Given the description of an element on the screen output the (x, y) to click on. 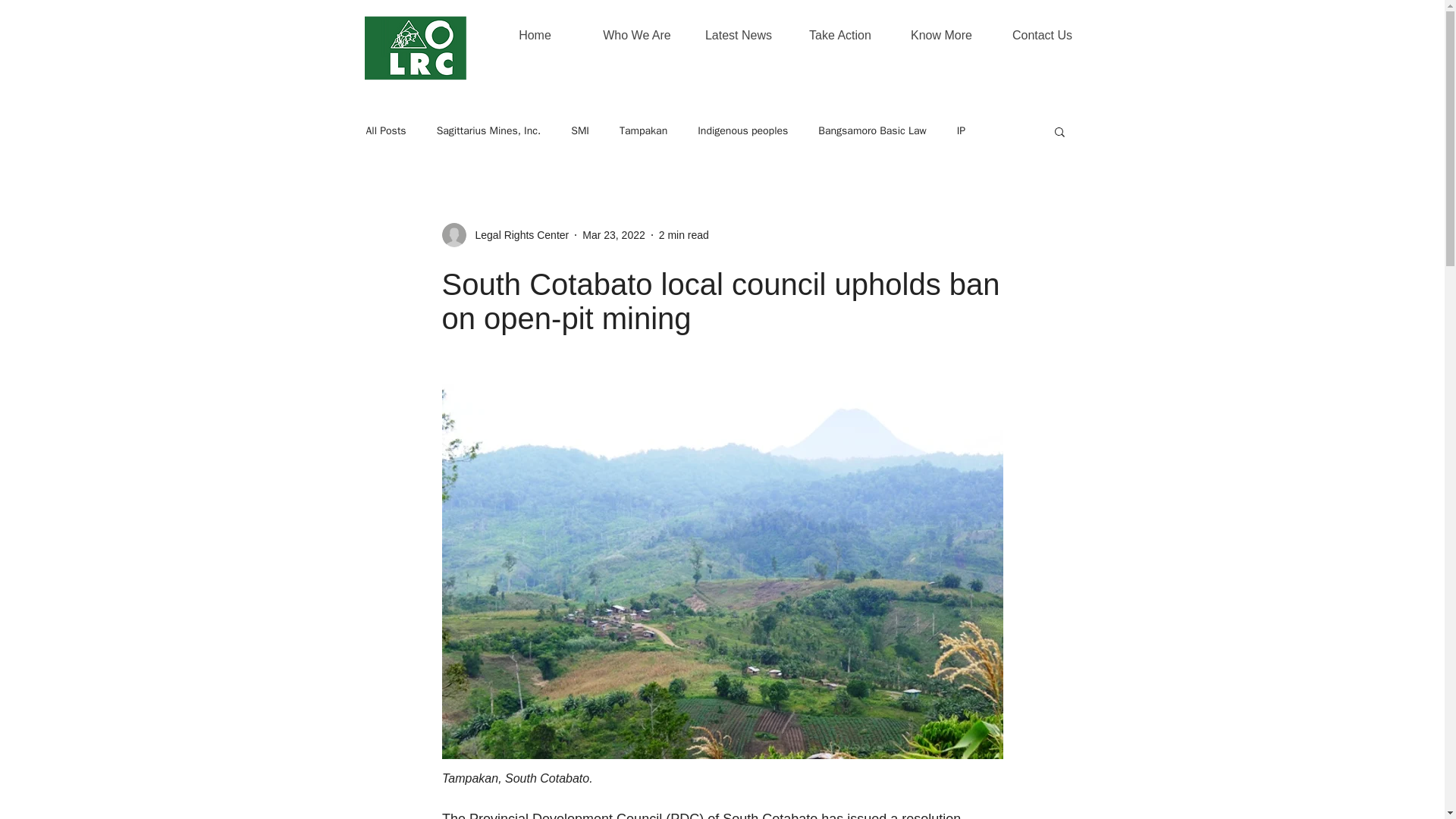
Indigenous peoples (742, 131)
Contact Us (1042, 35)
Mar 23, 2022 (613, 234)
Sagittarius Mines, Inc. (488, 131)
All Posts (385, 131)
Home (534, 35)
2 min read (684, 234)
Latest News (738, 35)
SMI (579, 131)
Legal Rights Center (517, 235)
Tampakan (643, 131)
Bangsamoro Basic Law (872, 131)
